Given the description of an element on the screen output the (x, y) to click on. 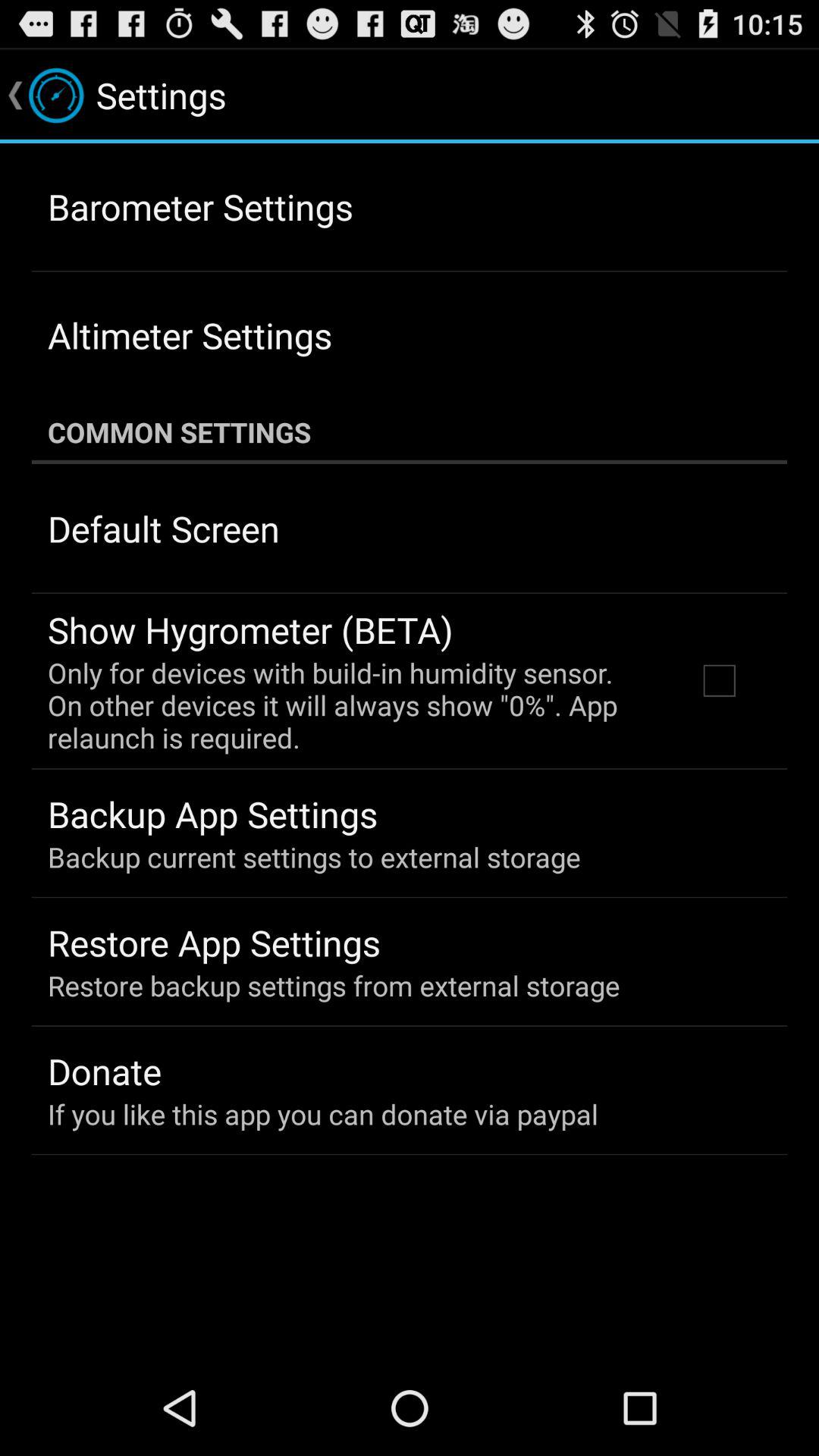
turn on the item below common settings item (163, 528)
